Given the description of an element on the screen output the (x, y) to click on. 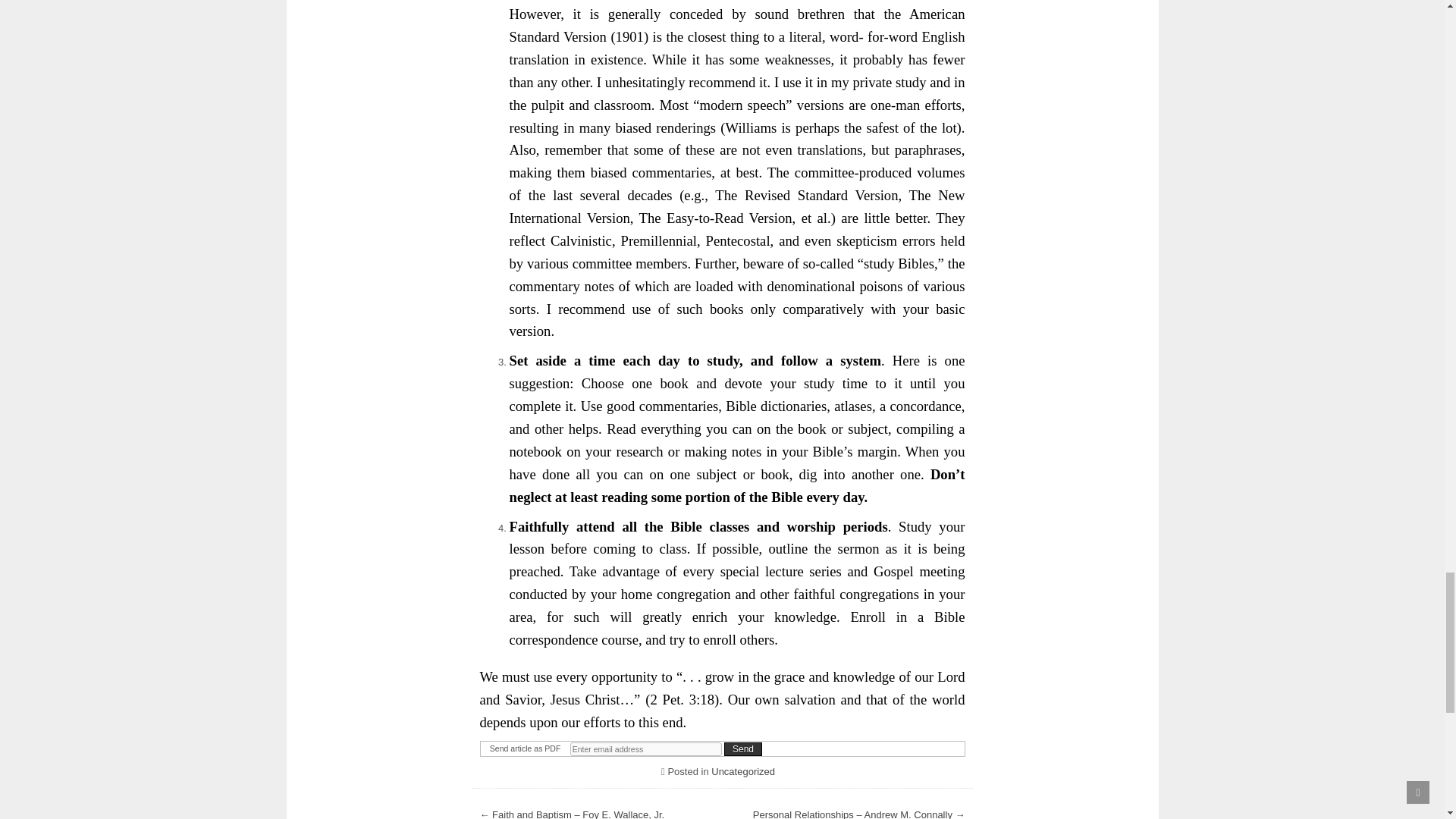
Uncategorized (742, 771)
Send (742, 748)
Send (742, 748)
